Given the description of an element on the screen output the (x, y) to click on. 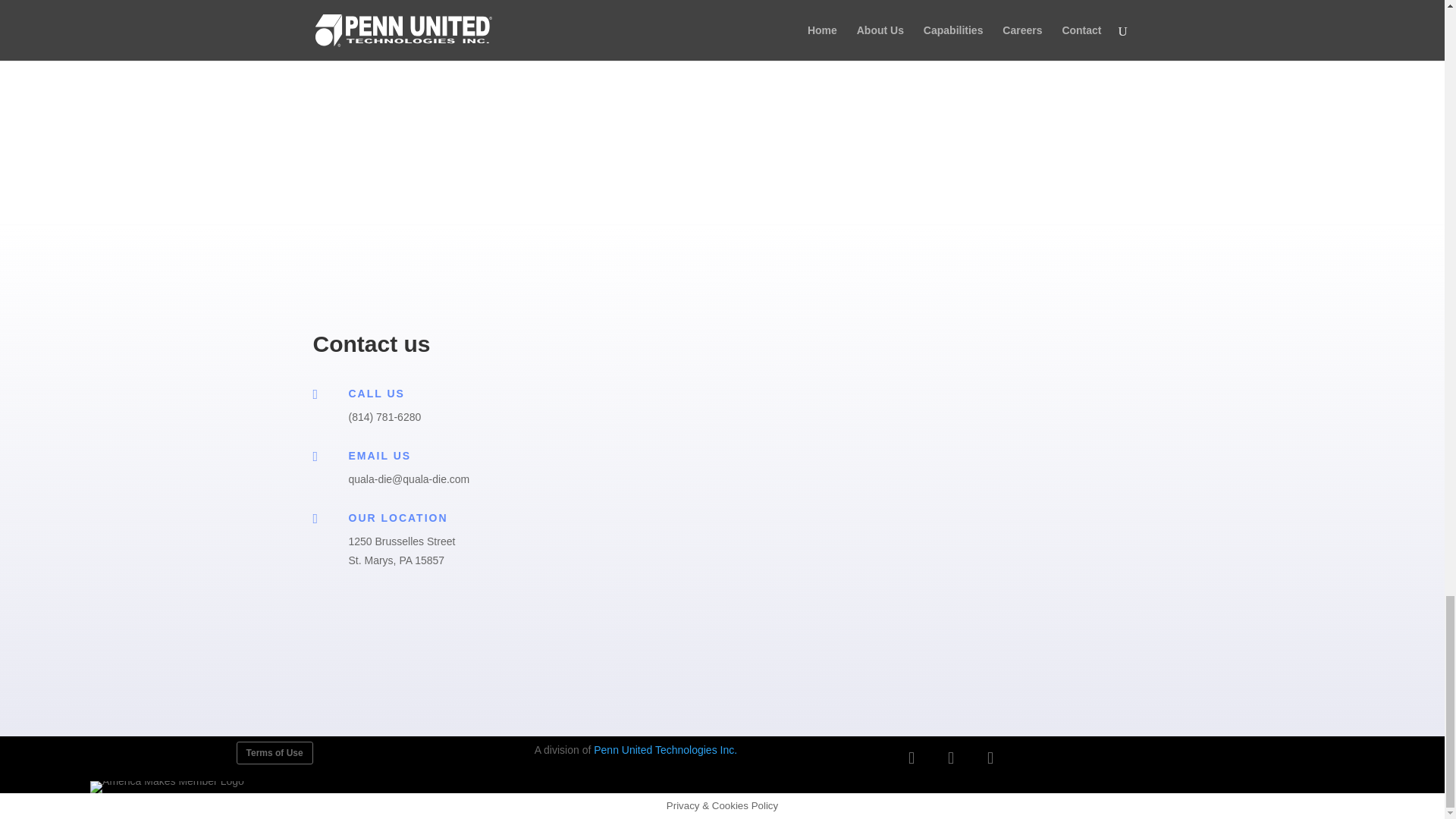
Penn United Technologies Inc. (665, 749)
Follow on LinkedIn (951, 758)
Follow on Facebook (911, 758)
Follow on Youtube (990, 758)
Terms of Use (274, 753)
wpforms-submit (595, 594)
wpforms-submit (557, 11)
